Given the description of an element on the screen output the (x, y) to click on. 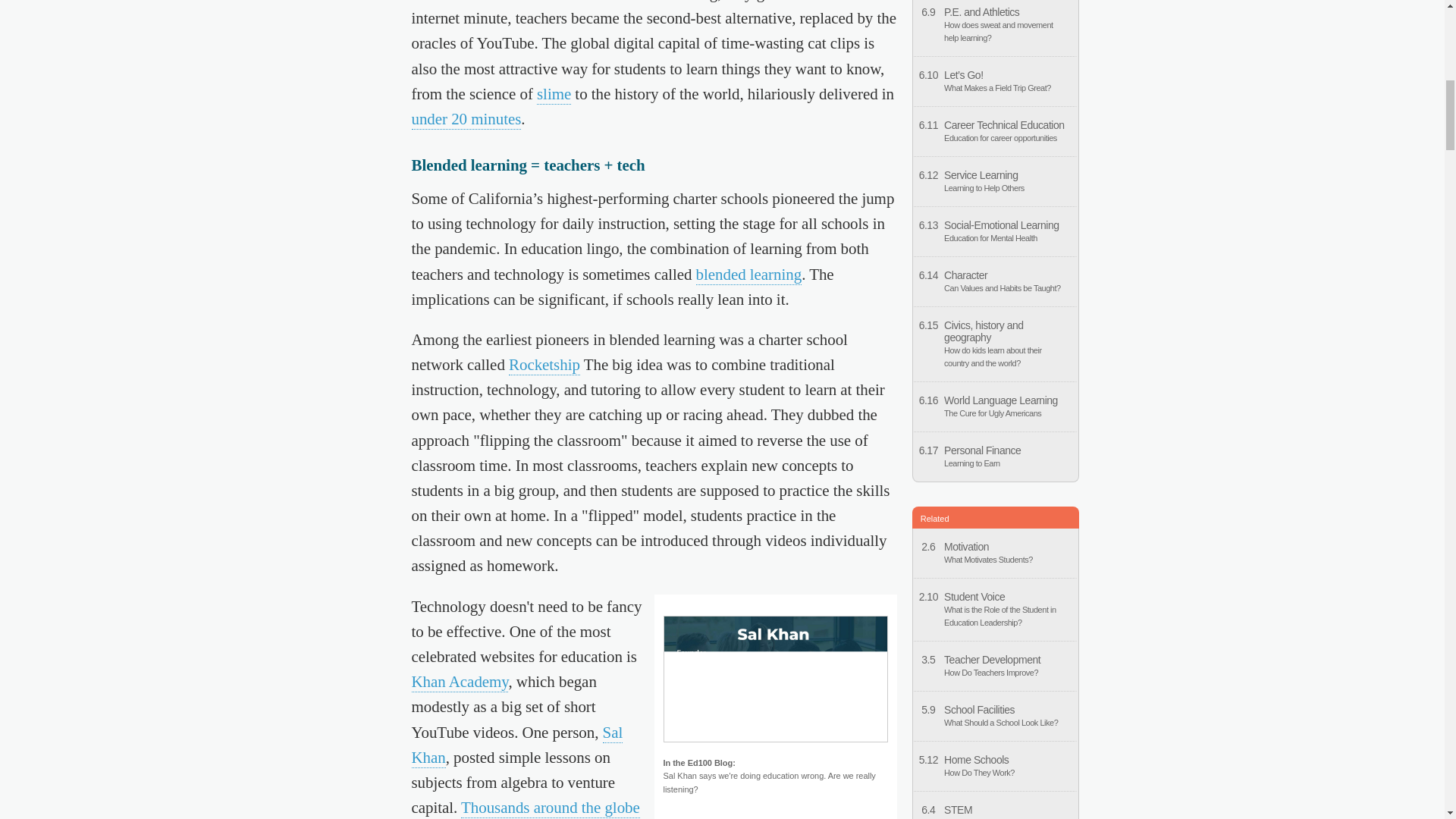
Khan Academy (459, 682)
Blended Learning short video (748, 275)
Rocketship (543, 365)
Testimonials (550, 808)
Khan Academy (516, 745)
